Given the description of an element on the screen output the (x, y) to click on. 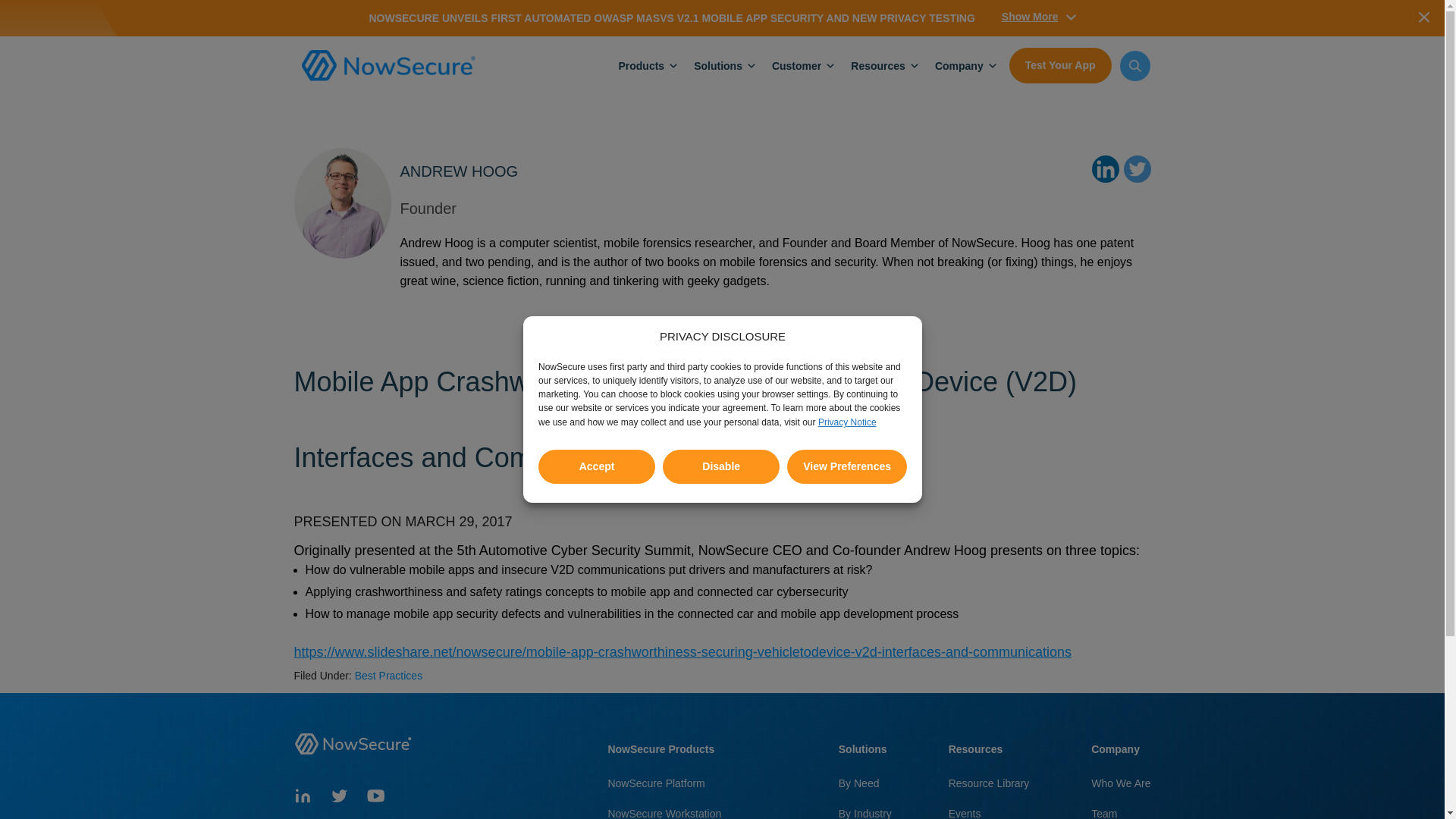
View Preferences (847, 651)
Accept (596, 711)
Products (640, 64)
Disable (720, 679)
Show More (1038, 15)
